Given the description of an element on the screen output the (x, y) to click on. 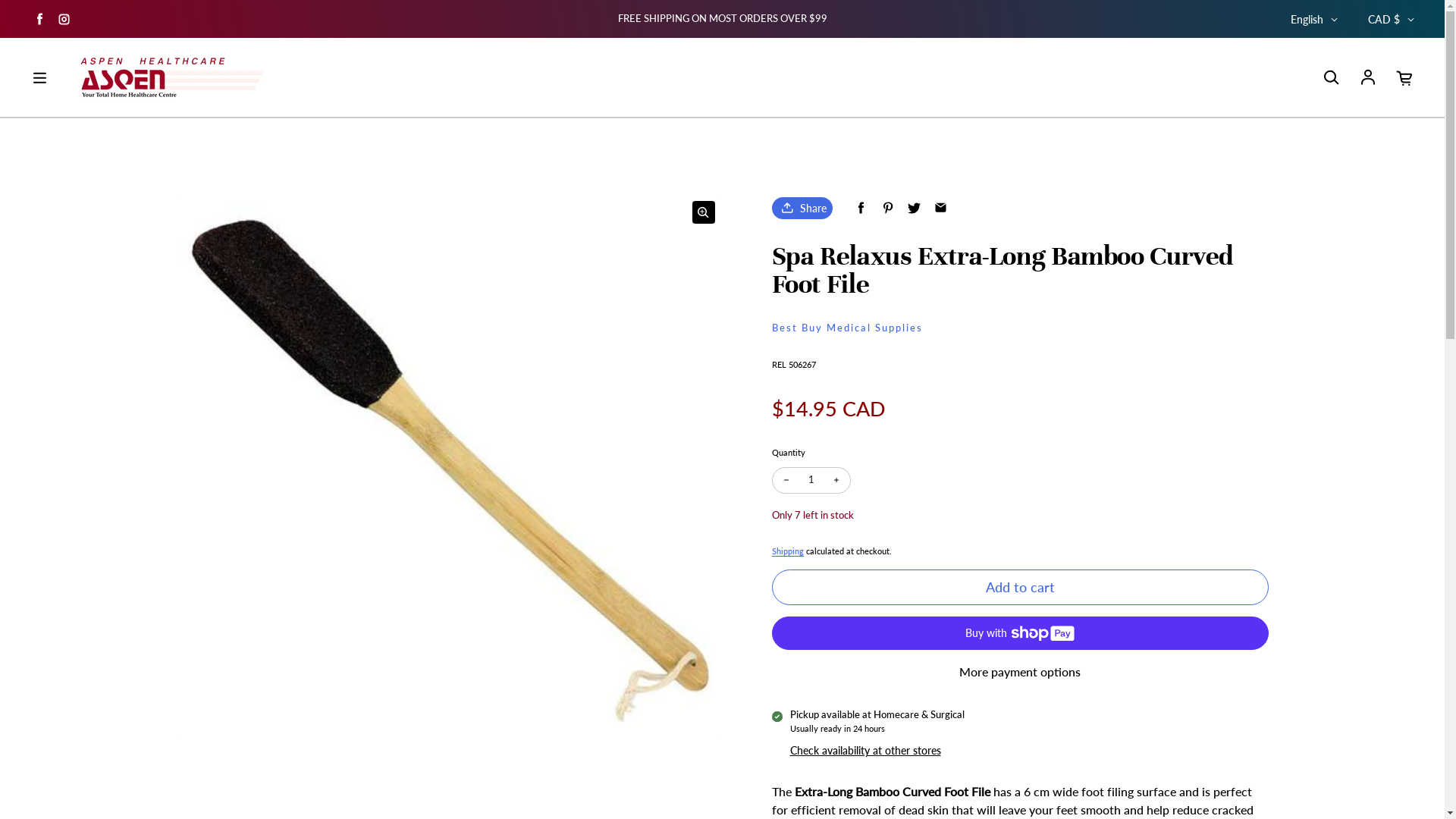
Shipping Element type: text (787, 551)
Instagram Element type: text (63, 18)
Facebook Element type: text (39, 18)
Add to cart Element type: text (1019, 587)
English Element type: text (1313, 18)
Log in Element type: text (1367, 77)
More payment options Element type: text (1019, 671)
CAD $ Element type: text (1391, 18)
Share Element type: text (801, 208)
Skip to content Element type: text (0, 0)
Check availability at other stores Element type: text (865, 750)
